Given the description of an element on the screen output the (x, y) to click on. 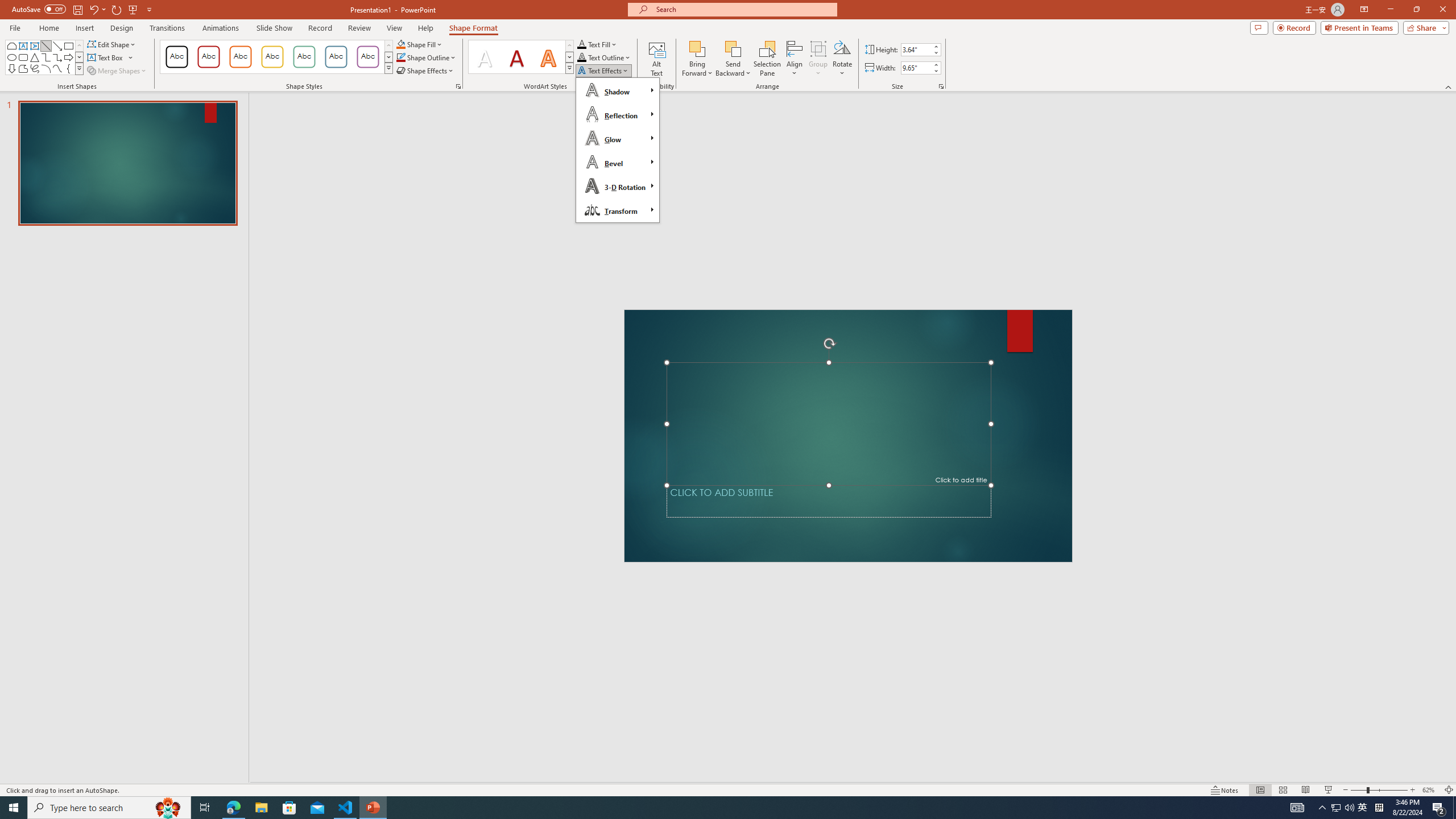
Shape Height (915, 49)
Edit Shape (112, 44)
Colored Outline - Gold, Accent 3 (272, 56)
T&ext Effects (617, 149)
Bring Forward (697, 58)
